Given the description of an element on the screen output the (x, y) to click on. 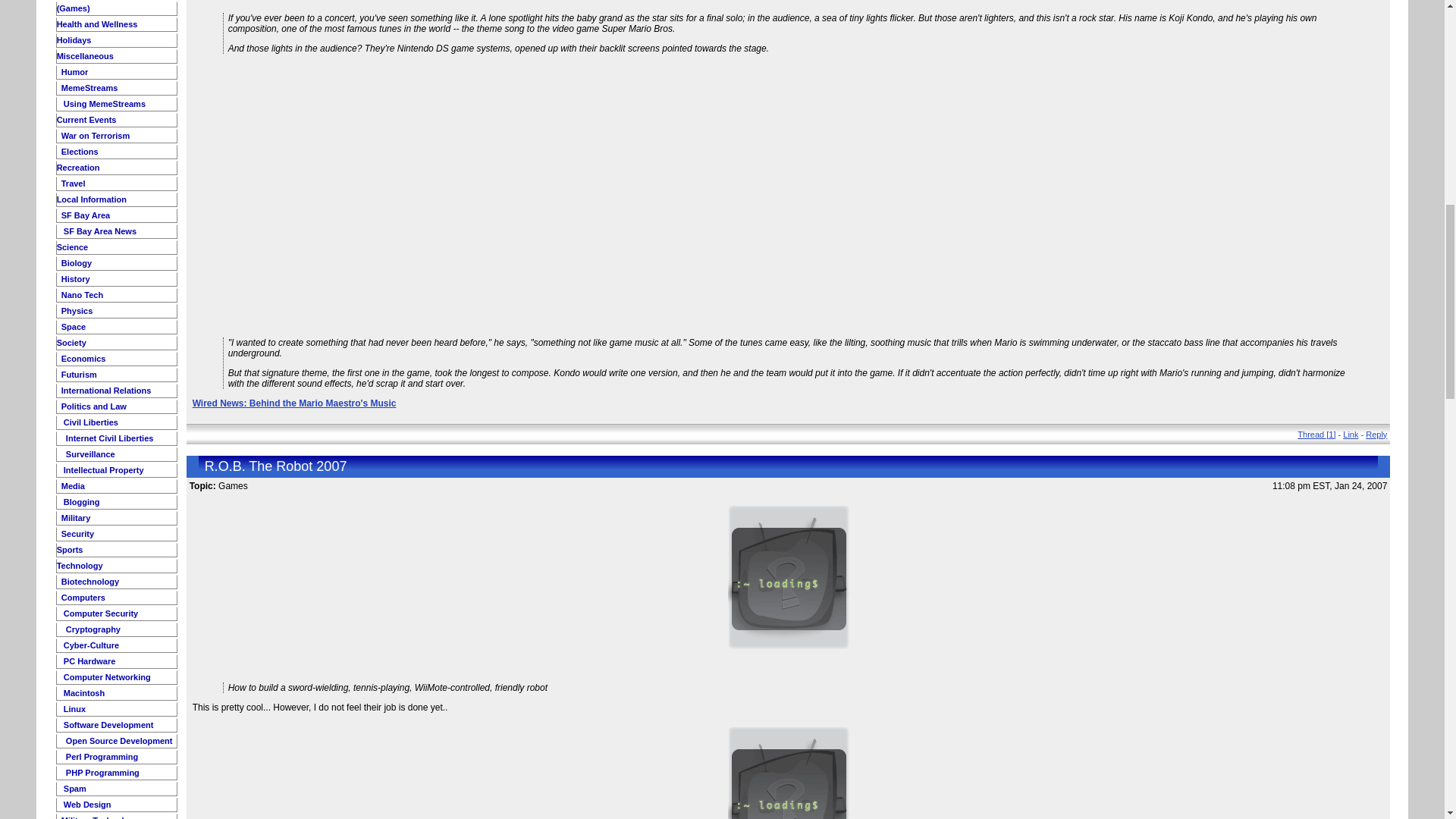
War on Terrorism (95, 135)
Using MemeStreams (103, 103)
Health and Wellness (97, 23)
Humor (73, 71)
Current Events (86, 119)
Holidays (73, 40)
Recreation (78, 166)
Travel (72, 183)
MemeStreams (88, 87)
Elections (79, 151)
Miscellaneous (84, 55)
